Given the description of an element on the screen output the (x, y) to click on. 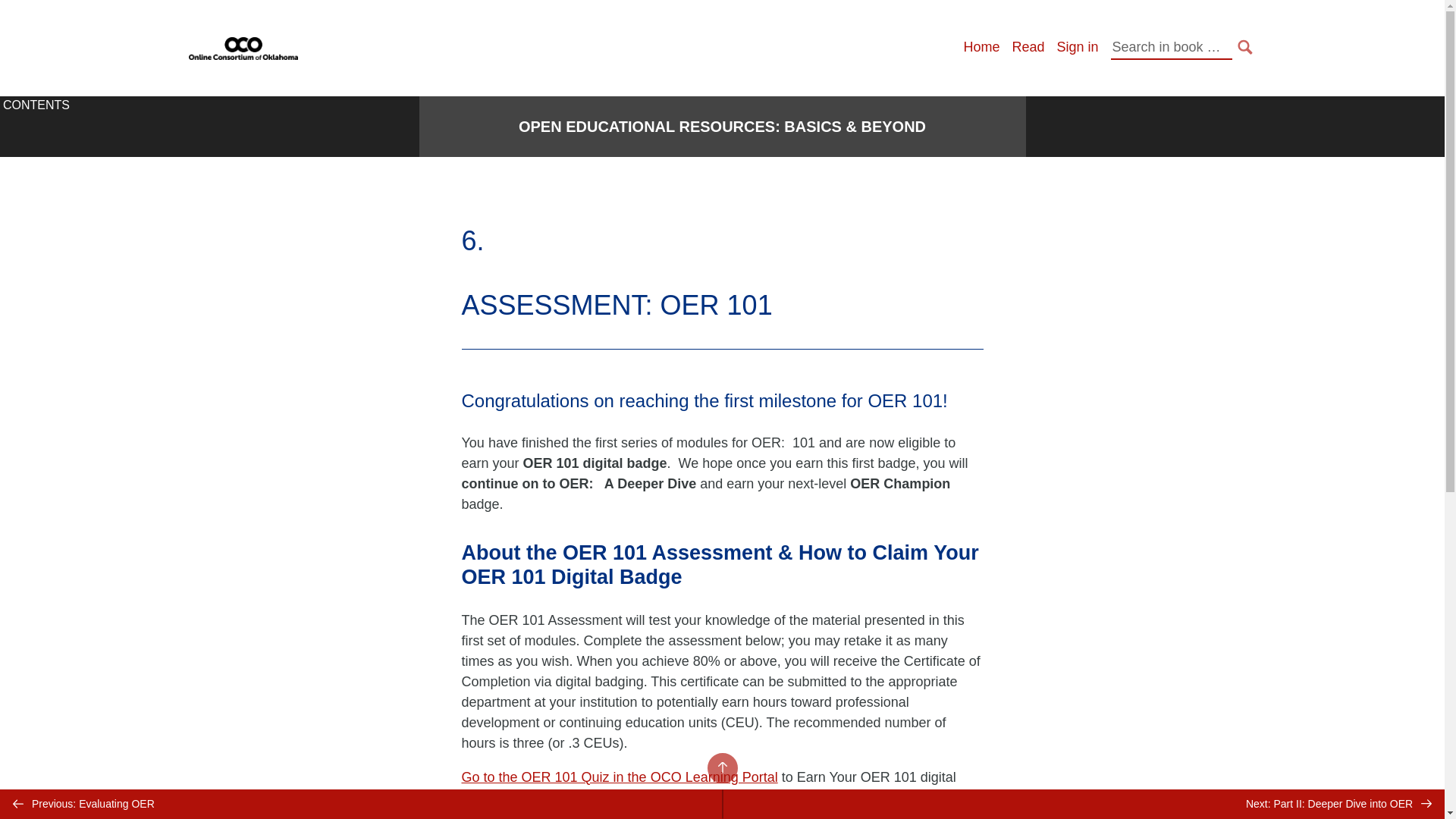
BACK TO TOP (721, 767)
Previous: Evaluating OER (361, 804)
Read (1027, 46)
Go to the OER 101 Quiz in the OCO Learning Portal (619, 776)
Previous: Evaluating OER (361, 804)
Sign in (1077, 46)
Home (980, 46)
